Given the description of an element on the screen output the (x, y) to click on. 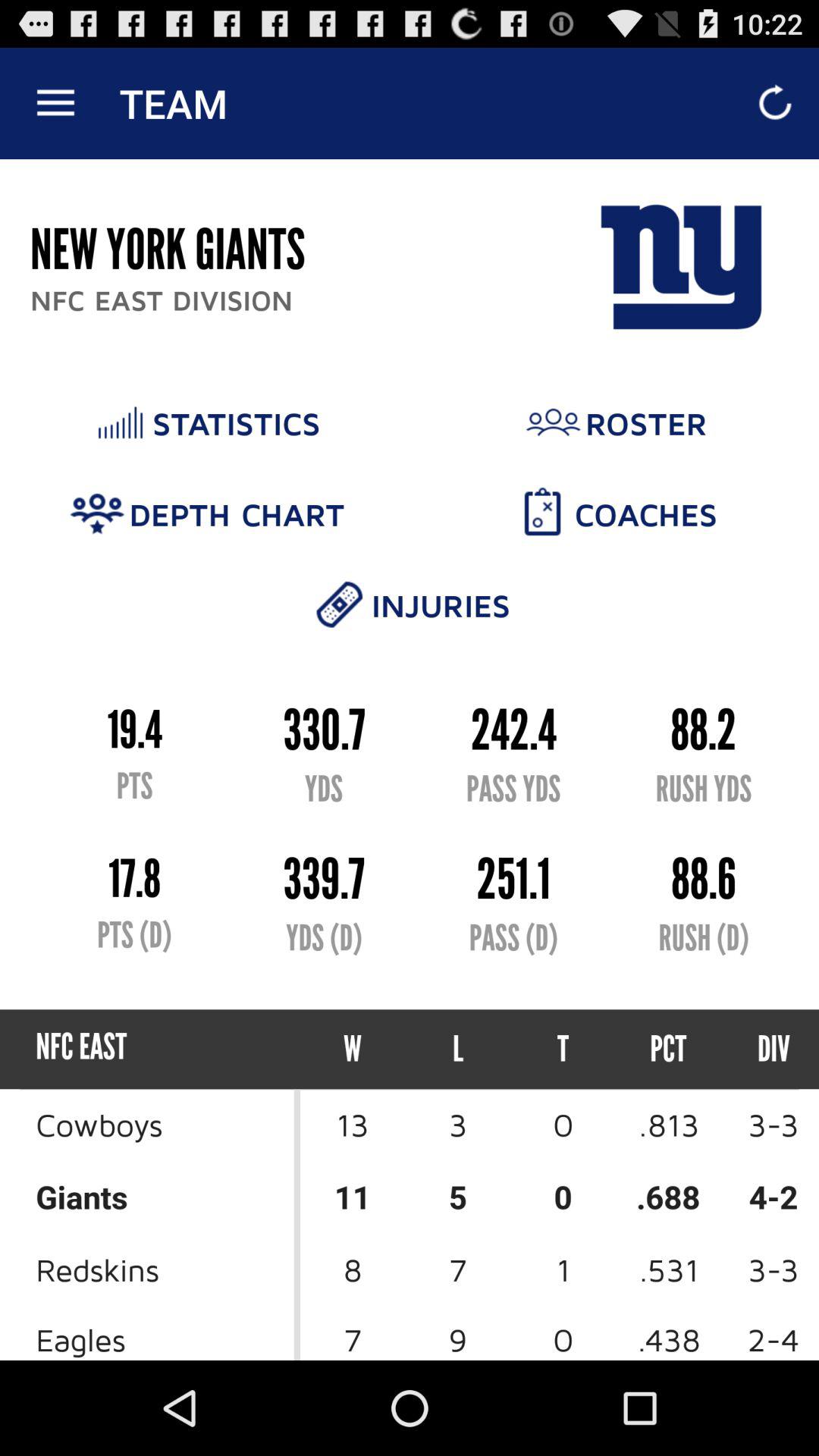
open the icon next to the l icon (562, 1049)
